Given the description of an element on the screen output the (x, y) to click on. 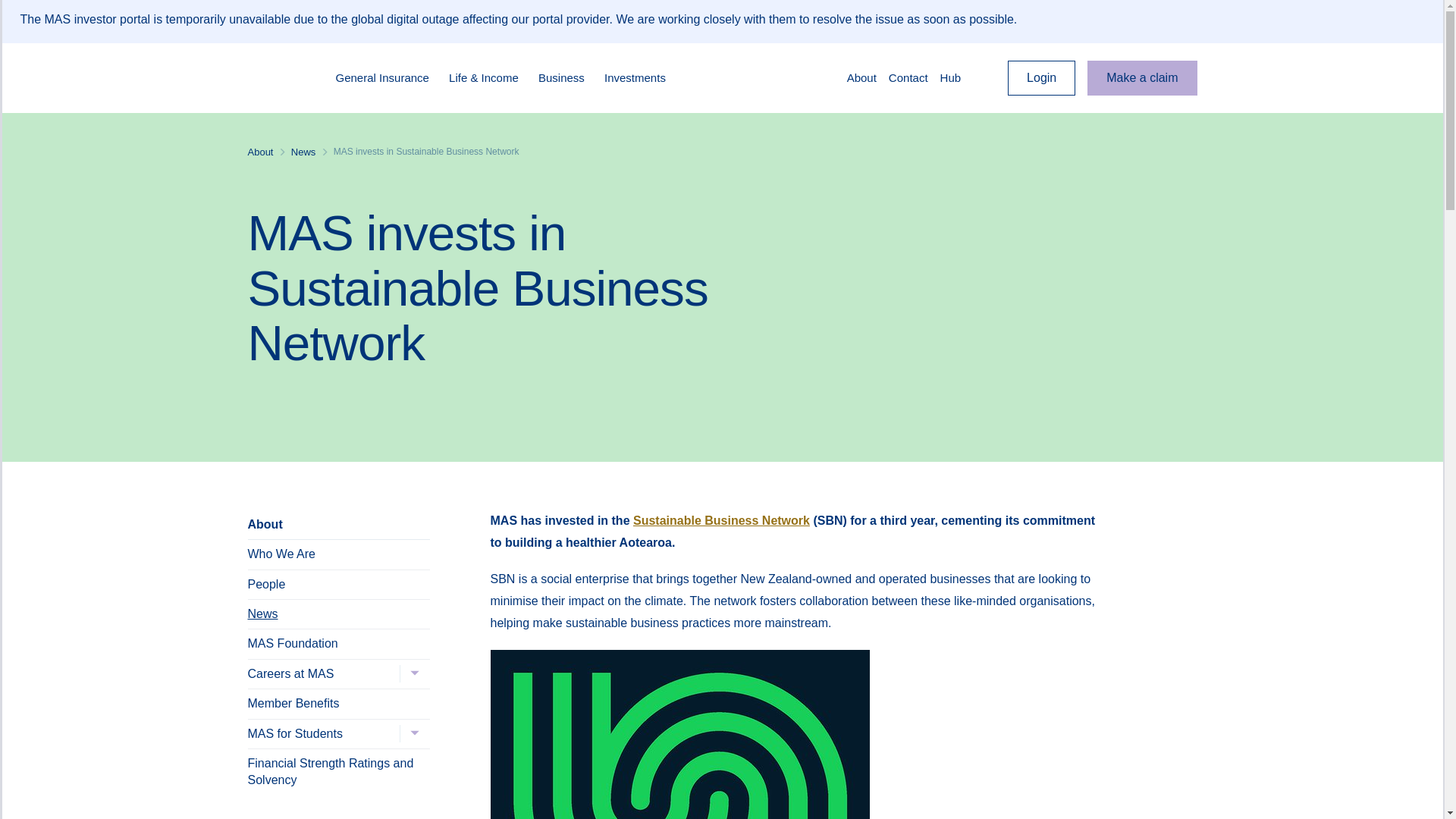
Business (567, 77)
General Insurance (387, 77)
Investments (641, 77)
Contact (908, 77)
